Given the description of an element on the screen output the (x, y) to click on. 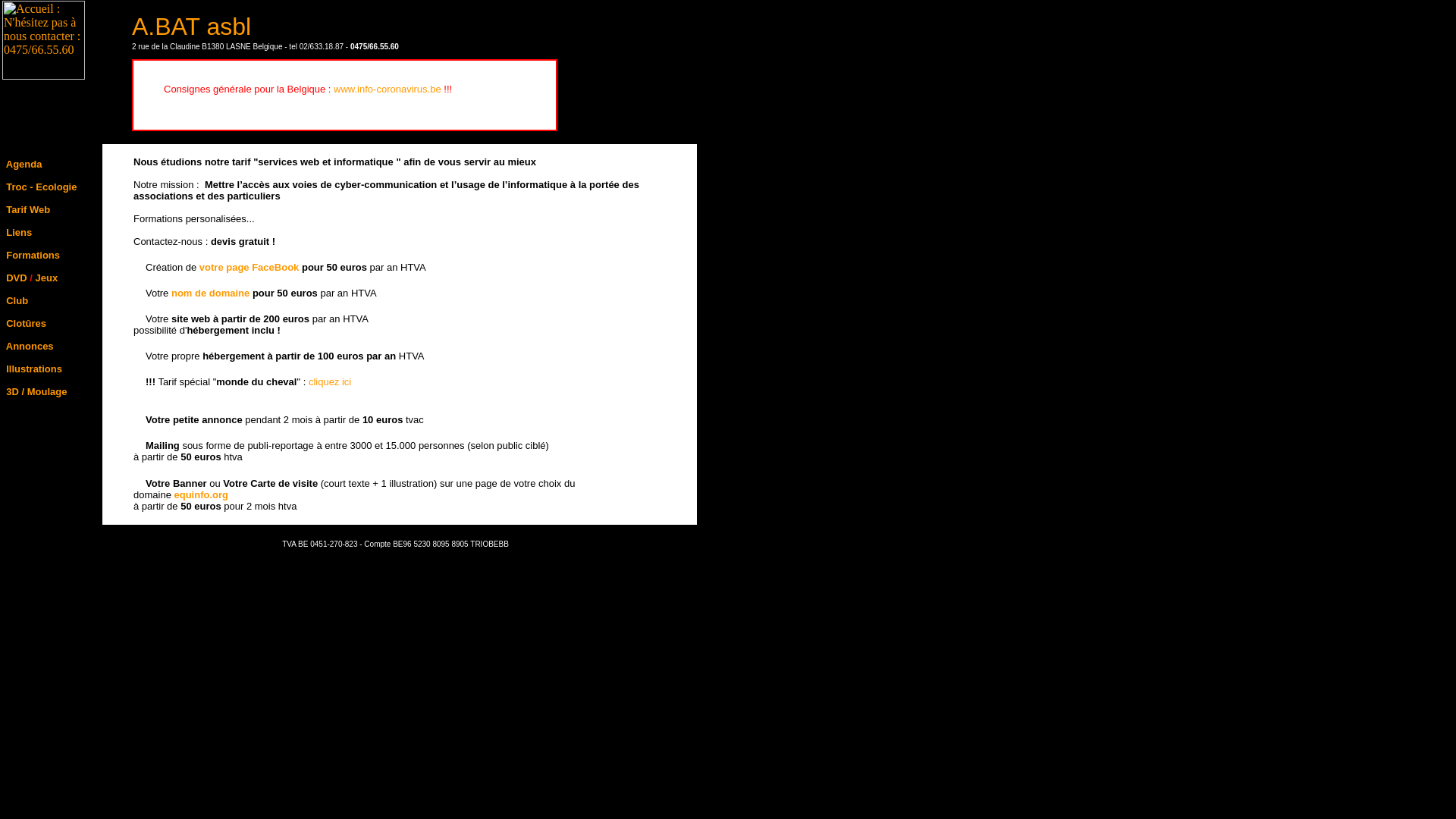
Liens Element type: text (18, 232)
Tarif Web Element type: text (28, 209)
Agenda Element type: text (24, 163)
Formations Element type: text (32, 254)
3D / Moulage Element type: text (36, 391)
www.info-coronavirus.be Element type: text (387, 88)
nom de domaine Element type: text (210, 292)
votre page FaceBook Element type: text (249, 267)
cliquez ici Element type: text (329, 381)
Club Element type: text (17, 300)
Troc - Ecologie Element type: text (41, 186)
equinfo.org Element type: text (200, 494)
Illustrations Element type: text (34, 368)
Jeux Element type: text (46, 277)
Annonces Element type: text (29, 345)
DVD Element type: text (16, 277)
